Given the description of an element on the screen output the (x, y) to click on. 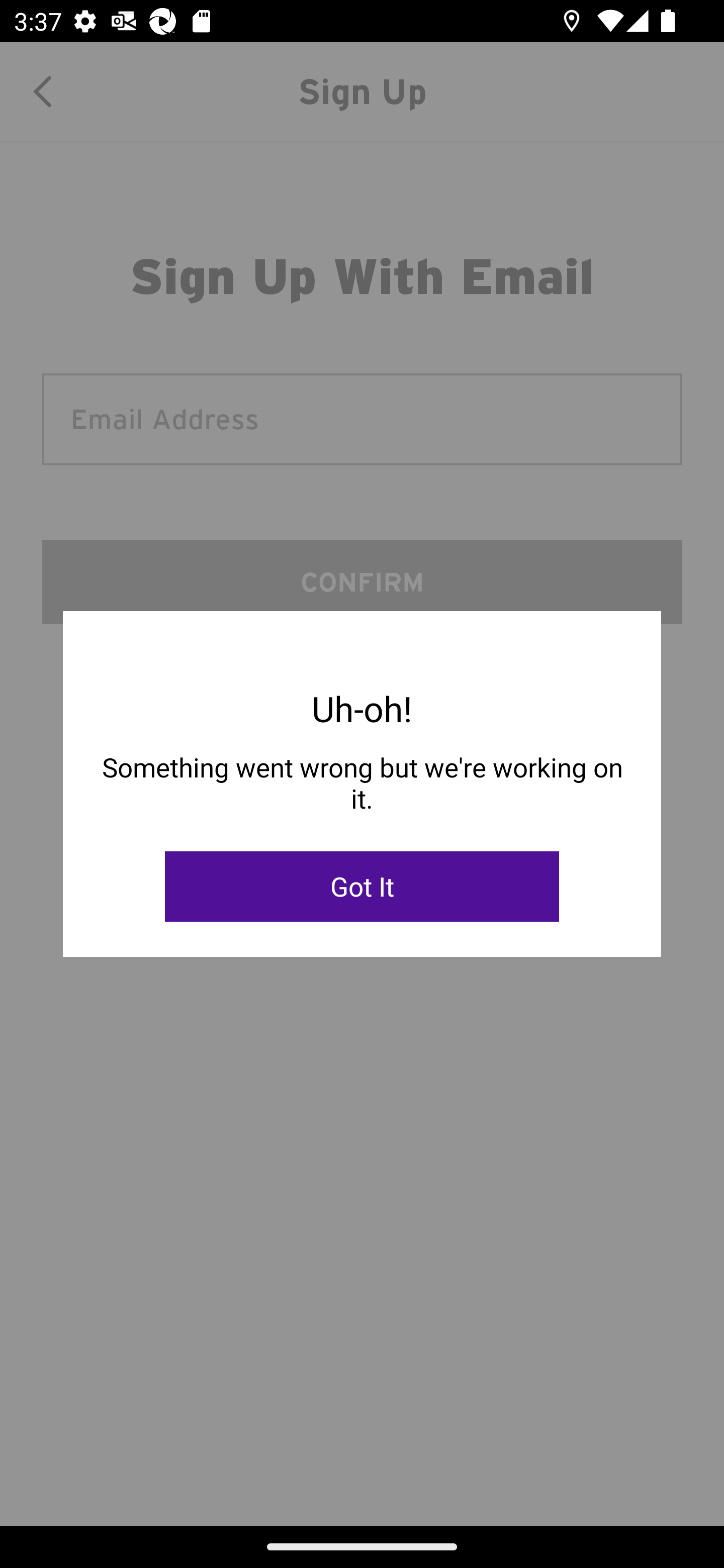
Got It (361, 886)
